Given the description of an element on the screen output the (x, y) to click on. 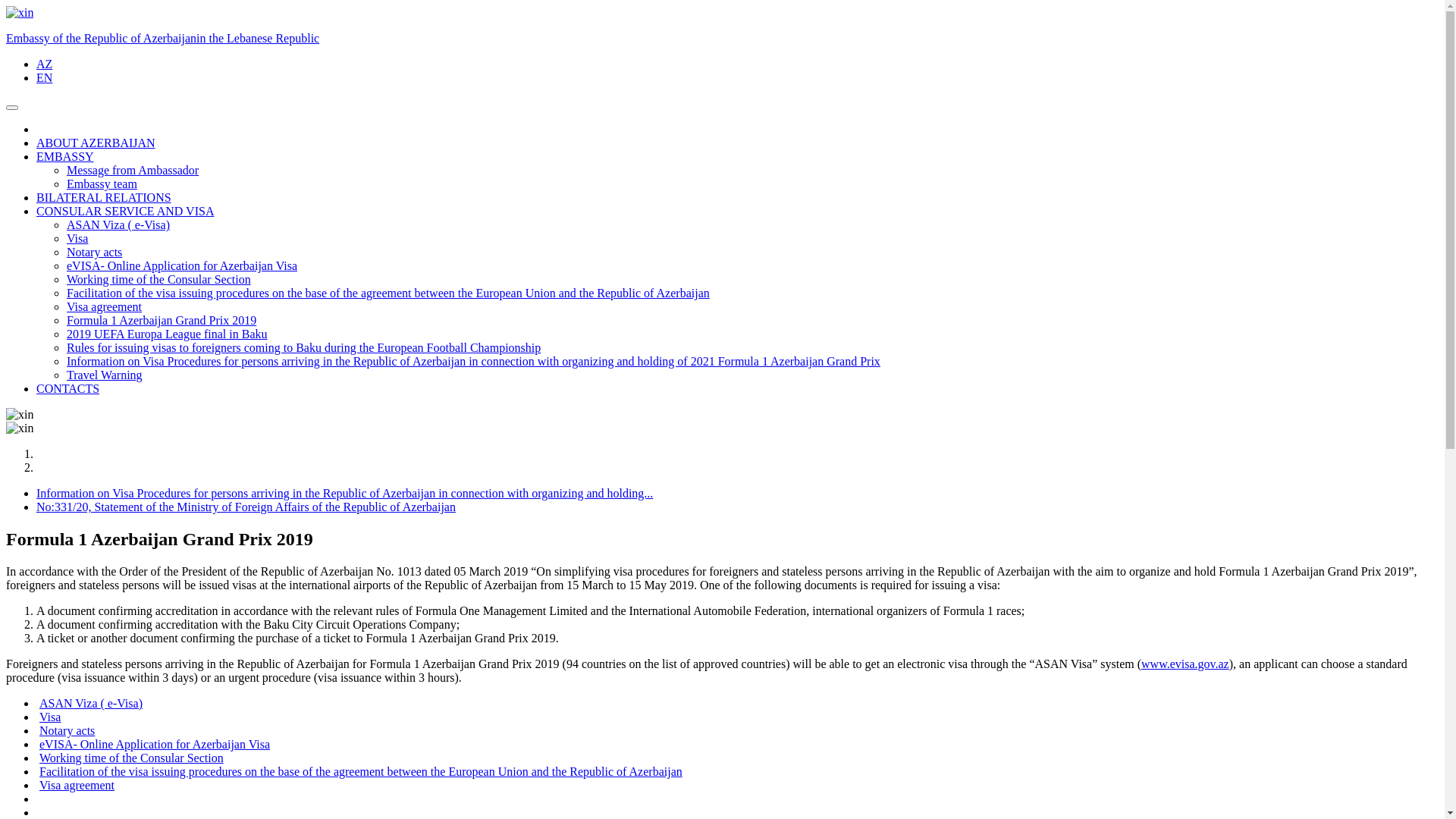
Visa agreement Element type: text (103, 306)
Visa Element type: text (48, 716)
ABOUT AZERBAIJAN Element type: text (95, 142)
Working time of the Consular Section Element type: text (158, 279)
Visa agreement Element type: text (75, 784)
Visa Element type: text (76, 238)
Working time of the Consular Section Element type: text (129, 757)
ASAN Viza ( e-Visa) Element type: text (89, 702)
2019 UEFA Europa League final in Baku Element type: text (166, 333)
www.evisa.gov.az Element type: text (1185, 663)
Embassy team Element type: text (101, 183)
eVISA- Online Application for Azerbaijan Visa Element type: text (152, 743)
CONSULAR SERVICE AND VISA Element type: text (124, 210)
Travel Warning Element type: text (104, 374)
ASAN Viza ( e-Visa) Element type: text (117, 224)
EN Element type: text (44, 77)
Notary acts Element type: text (65, 730)
eVISA- Online Application for Azerbaijan Visa Element type: text (181, 265)
CONTACTS Element type: text (67, 388)
Formula 1 Azerbaijan Grand Prix 2019 Element type: text (161, 319)
Notary acts Element type: text (94, 251)
AZ Element type: text (44, 63)
EMBASSY Element type: text (65, 156)
Message from Ambassador Element type: text (132, 169)
BILATERAL RELATIONS Element type: text (103, 197)
